Given the description of an element on the screen output the (x, y) to click on. 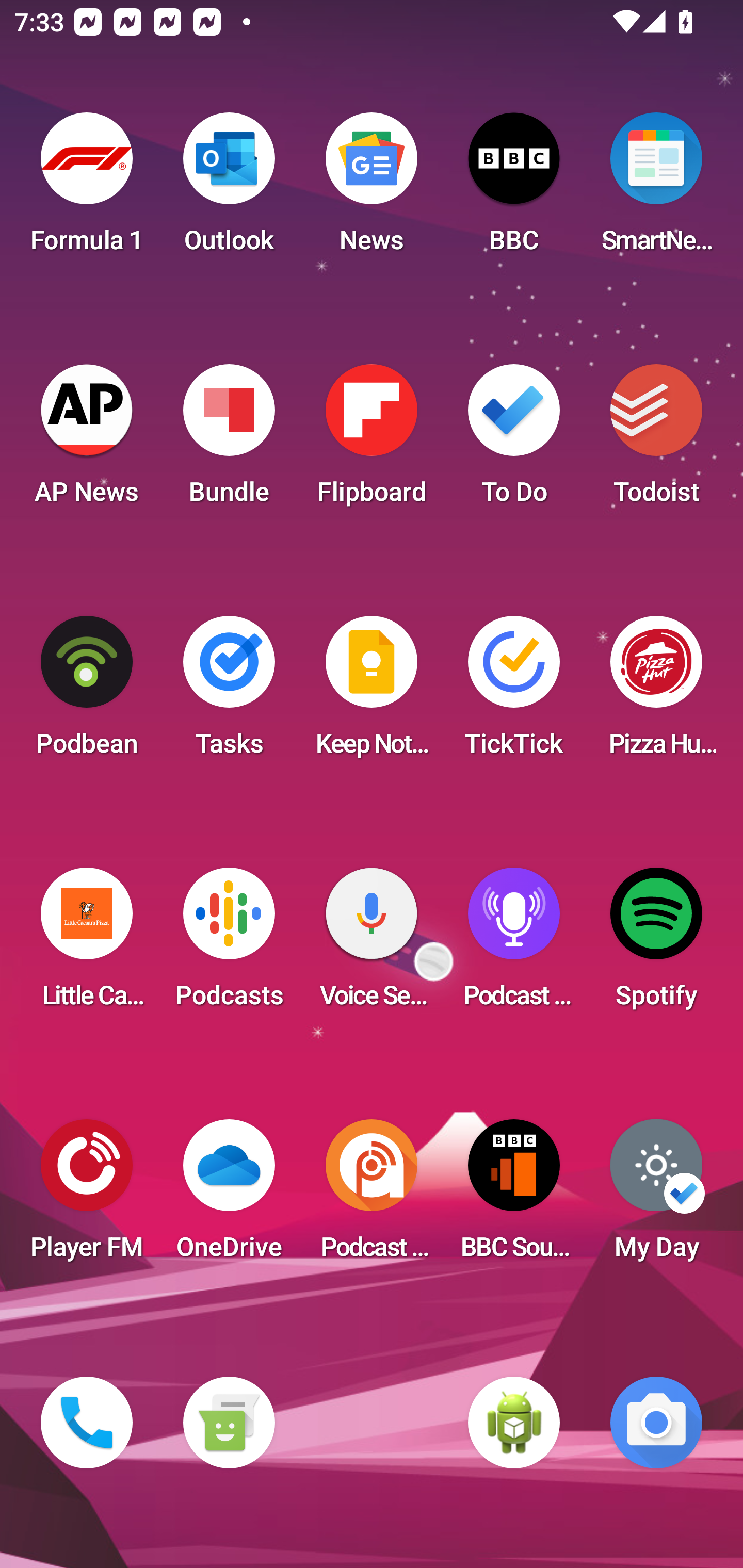
Formula 1 (86, 188)
Outlook (228, 188)
News (371, 188)
BBC (513, 188)
SmartNews (656, 188)
AP News (86, 440)
Bundle (228, 440)
Flipboard (371, 440)
To Do (513, 440)
Todoist (656, 440)
Podbean (86, 692)
Tasks (228, 692)
Keep Notes (371, 692)
TickTick (513, 692)
Pizza Hut HK & Macau (656, 692)
Little Caesars Pizza (86, 943)
Podcasts (228, 943)
Voice Search (371, 943)
Podcast Player (513, 943)
Spotify (656, 943)
Player FM (86, 1195)
OneDrive (228, 1195)
Podcast Addict (371, 1195)
BBC Sounds (513, 1195)
My Day (656, 1195)
Phone (86, 1422)
Messaging (228, 1422)
WebView Browser Tester (513, 1422)
Camera (656, 1422)
